Given the description of an element on the screen output the (x, y) to click on. 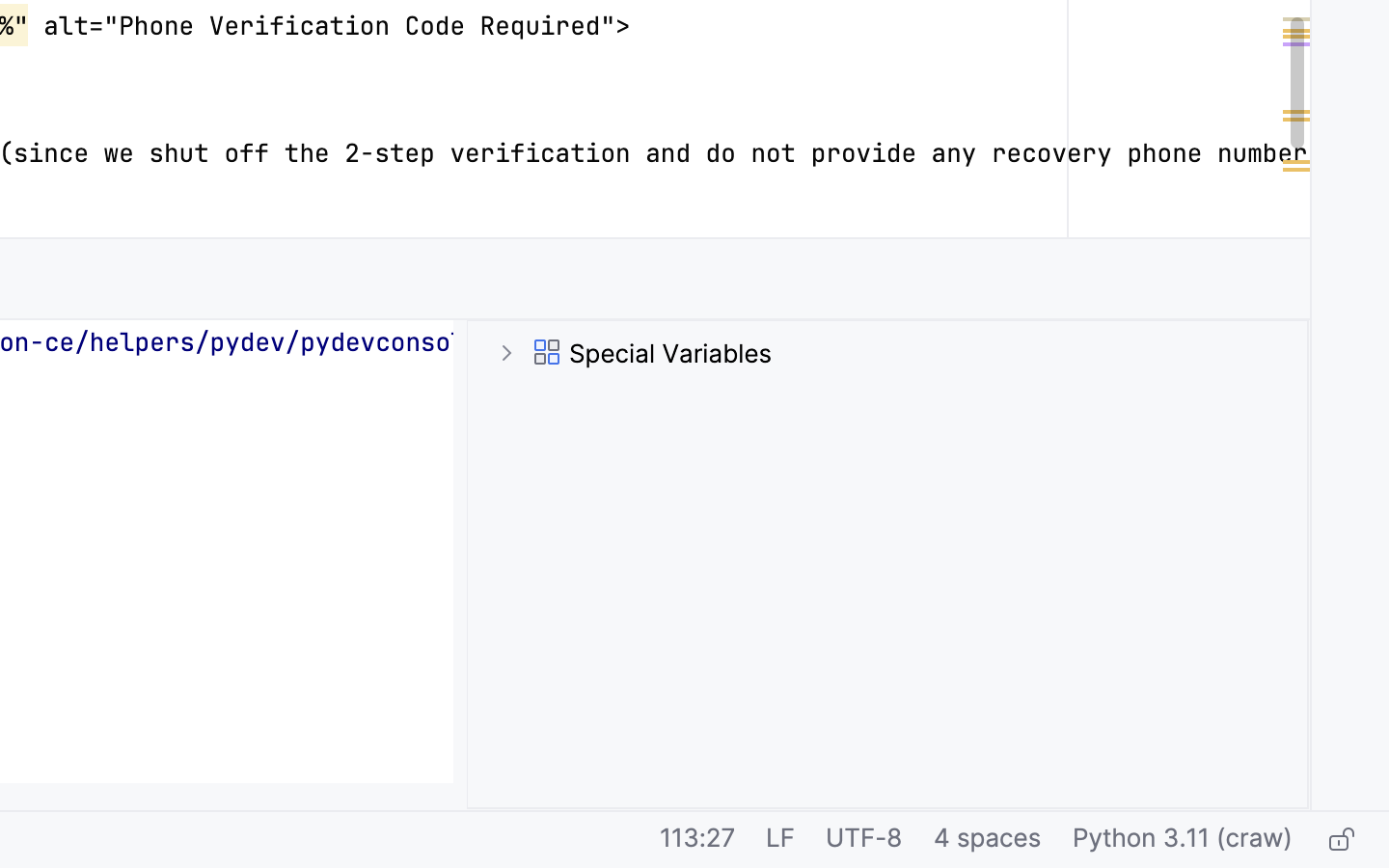
LF Element type: AXStaticText (780, 840)
UTF-8 Element type: AXStaticText (864, 840)
